Given the description of an element on the screen output the (x, y) to click on. 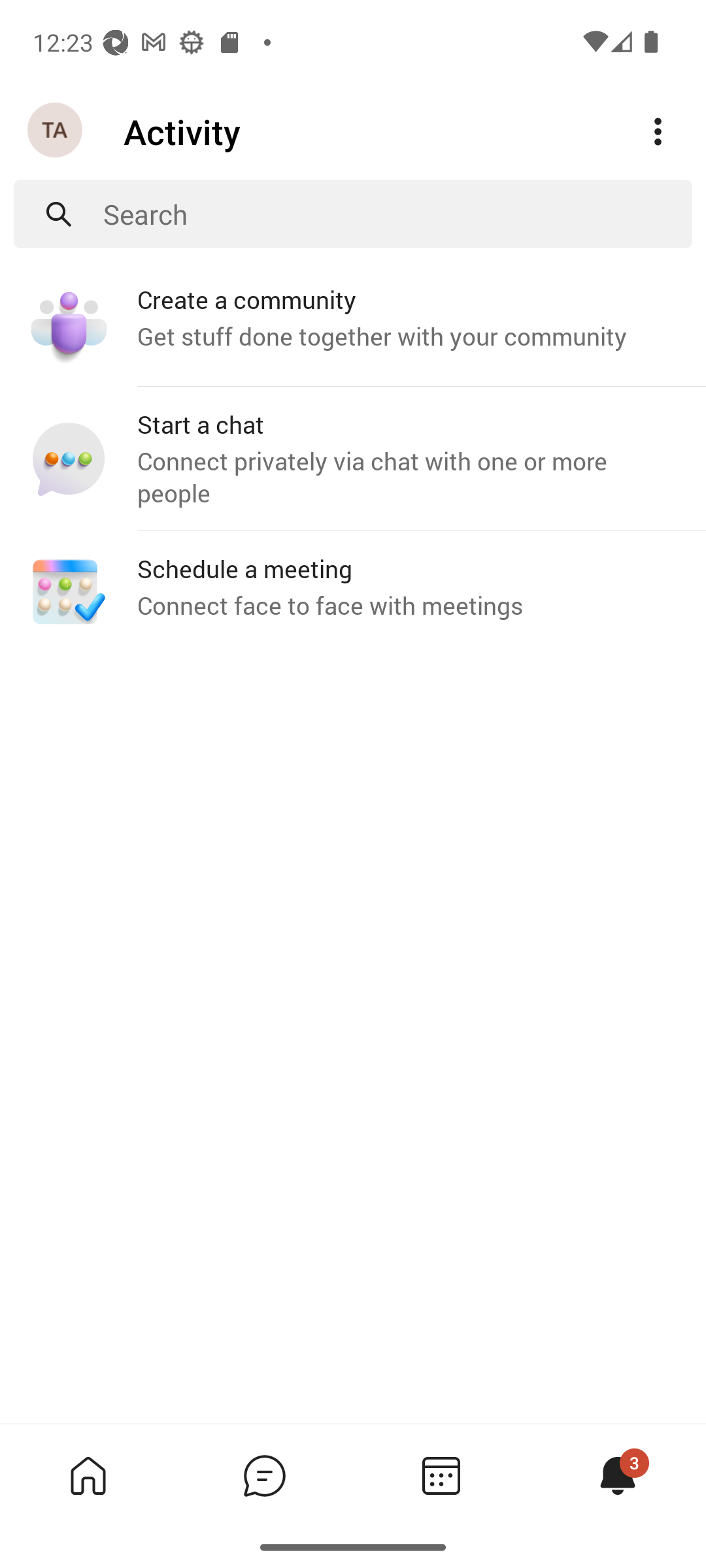
More options (657, 131)
Navigation (56, 130)
Search (397, 213)
Home tab,1 of 4, not selected (88, 1475)
Chat tab,2 of 4, not selected (264, 1475)
Calendar tab,3 of 4, not selected (441, 1475)
Activity tab, 4 of 4, 3 new 3 (617, 1475)
